Given the description of an element on the screen output the (x, y) to click on. 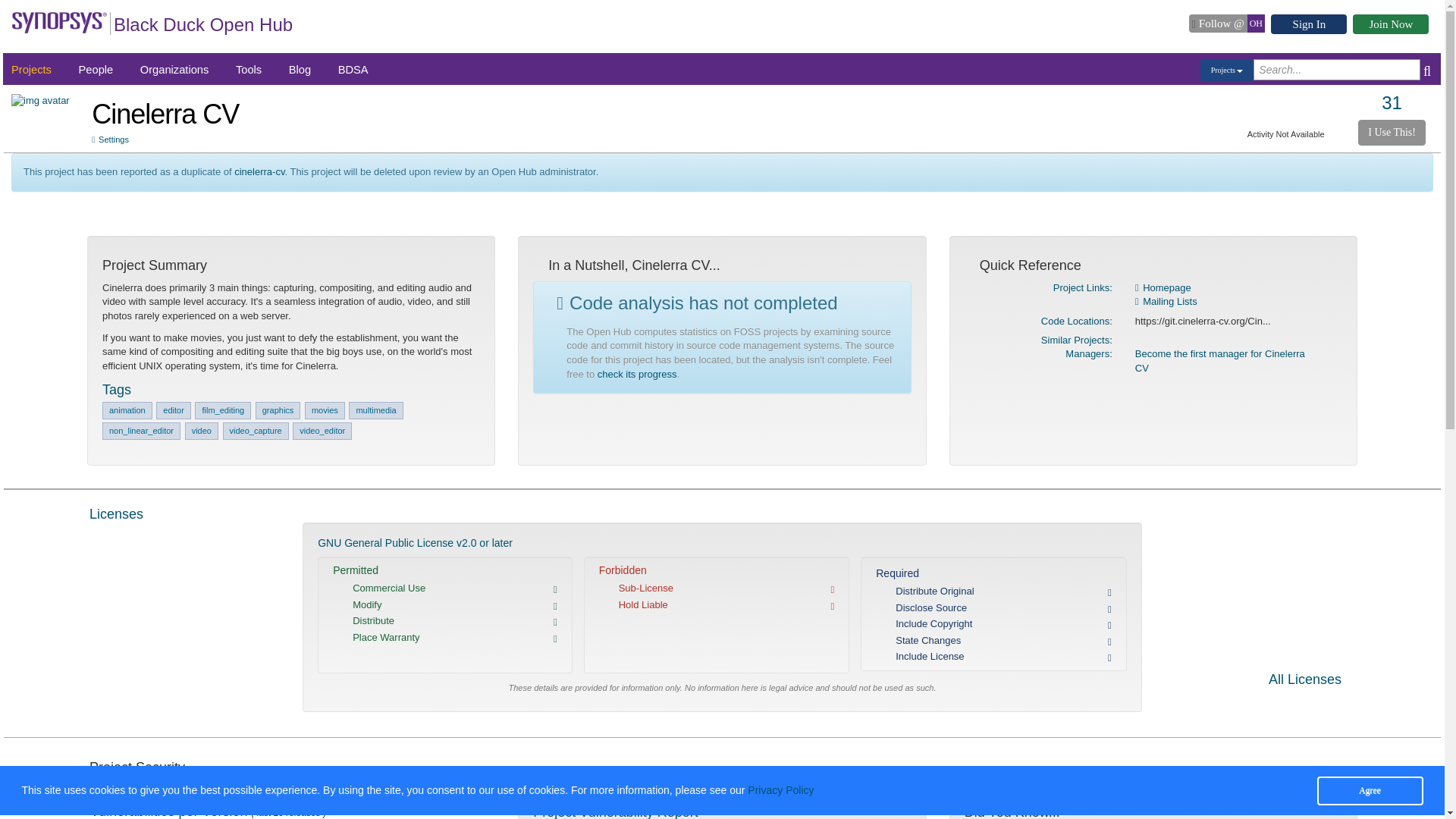
Projects (1226, 69)
Blog (299, 69)
Homepage (1163, 287)
Join Now (1390, 24)
animation (126, 410)
Tools (248, 69)
editor (172, 410)
BDSA (352, 69)
Cinelerra CV (164, 113)
 Settings (110, 139)
graphics (278, 410)
People (95, 69)
Project Links: (1082, 287)
Black Duck Open Hub (202, 27)
check its progress (636, 374)
